Given the description of an element on the screen output the (x, y) to click on. 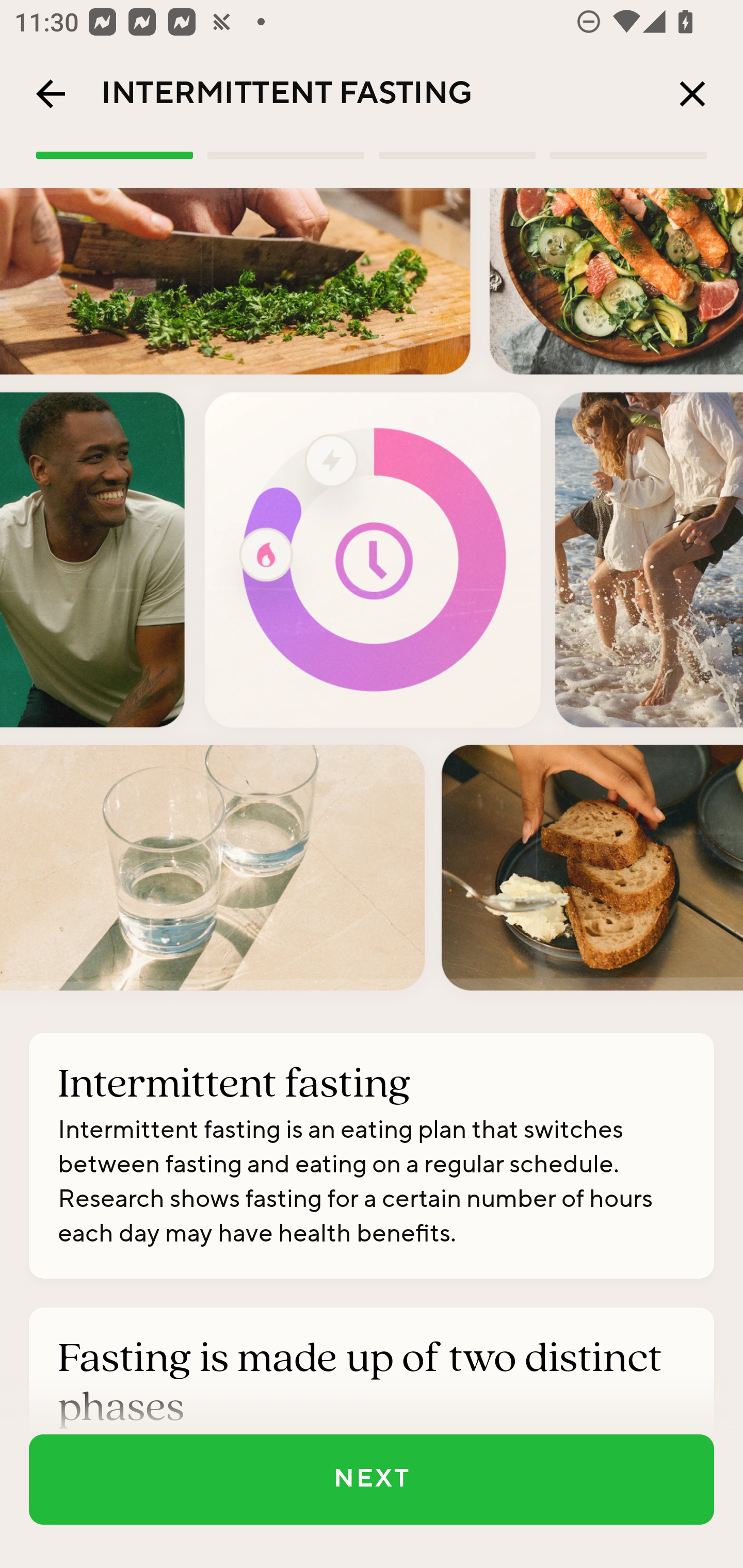
NEXT (371, 1479)
